Given the description of an element on the screen output the (x, y) to click on. 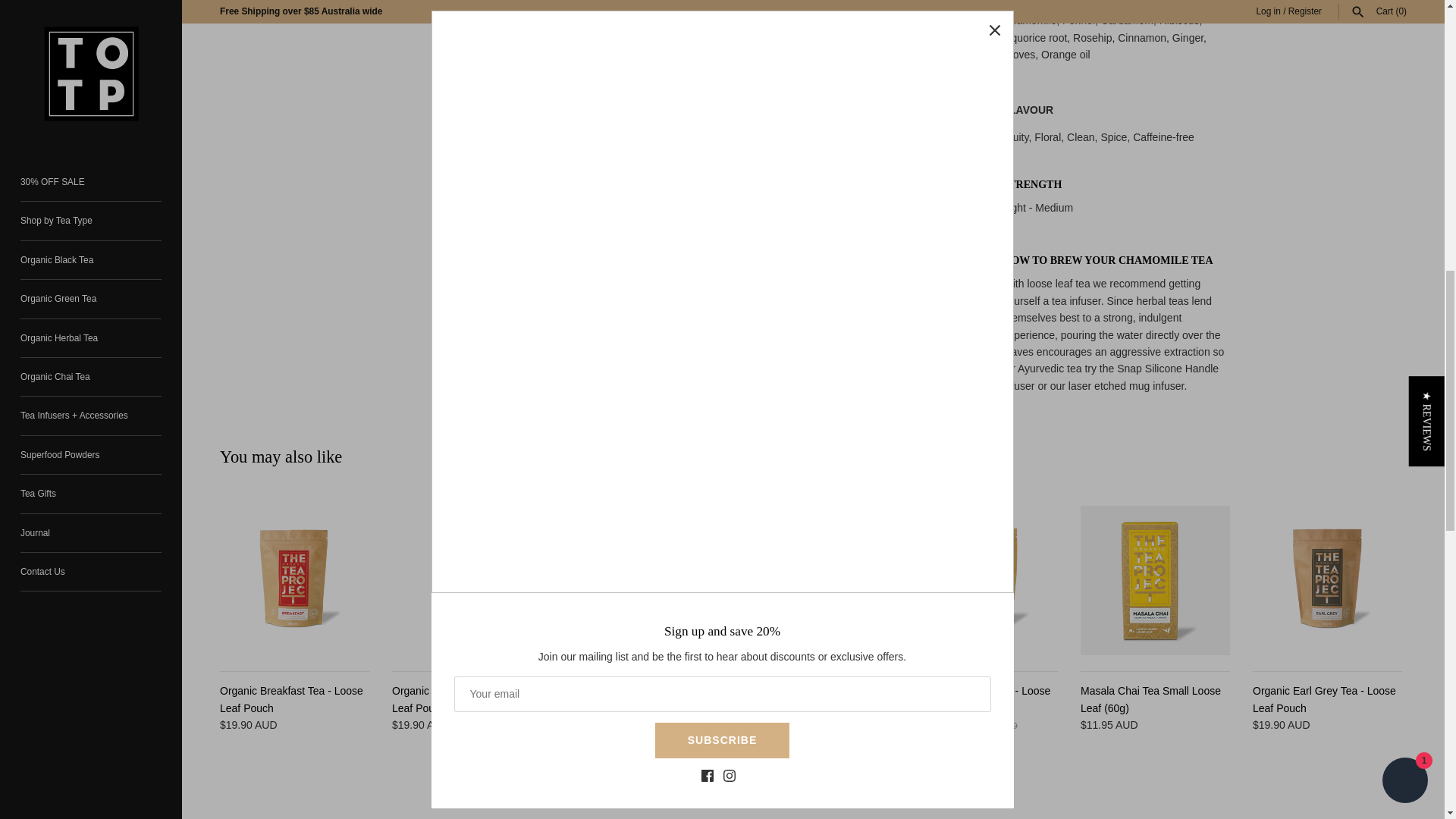
Organic Breakfast Tea - Loose Leaf Pouch (294, 580)
Organic Darjeeling Tea - Loose Leaf Pouch (466, 580)
Organic Digestive Tea - Loose Leaf Pouch (983, 580)
Tea Flask and Loose Leaf Tea Gift Pack (638, 580)
Organic Masala Chai - Loose Leaf Pouch (810, 580)
Organic Earl Grey Tea - Loose Leaf Pouch (1327, 580)
